Given the description of an element on the screen output the (x, y) to click on. 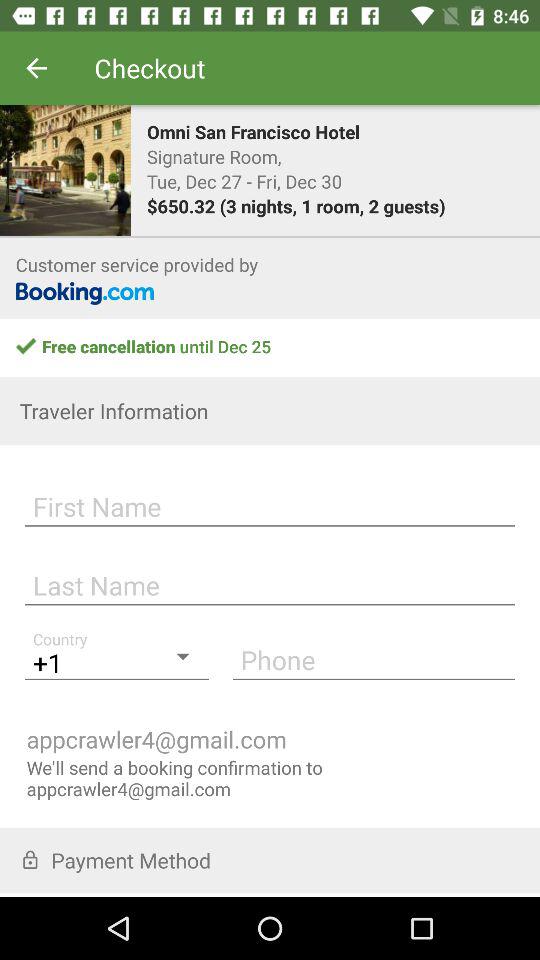
press the icon above +1 (269, 582)
